Given the description of an element on the screen output the (x, y) to click on. 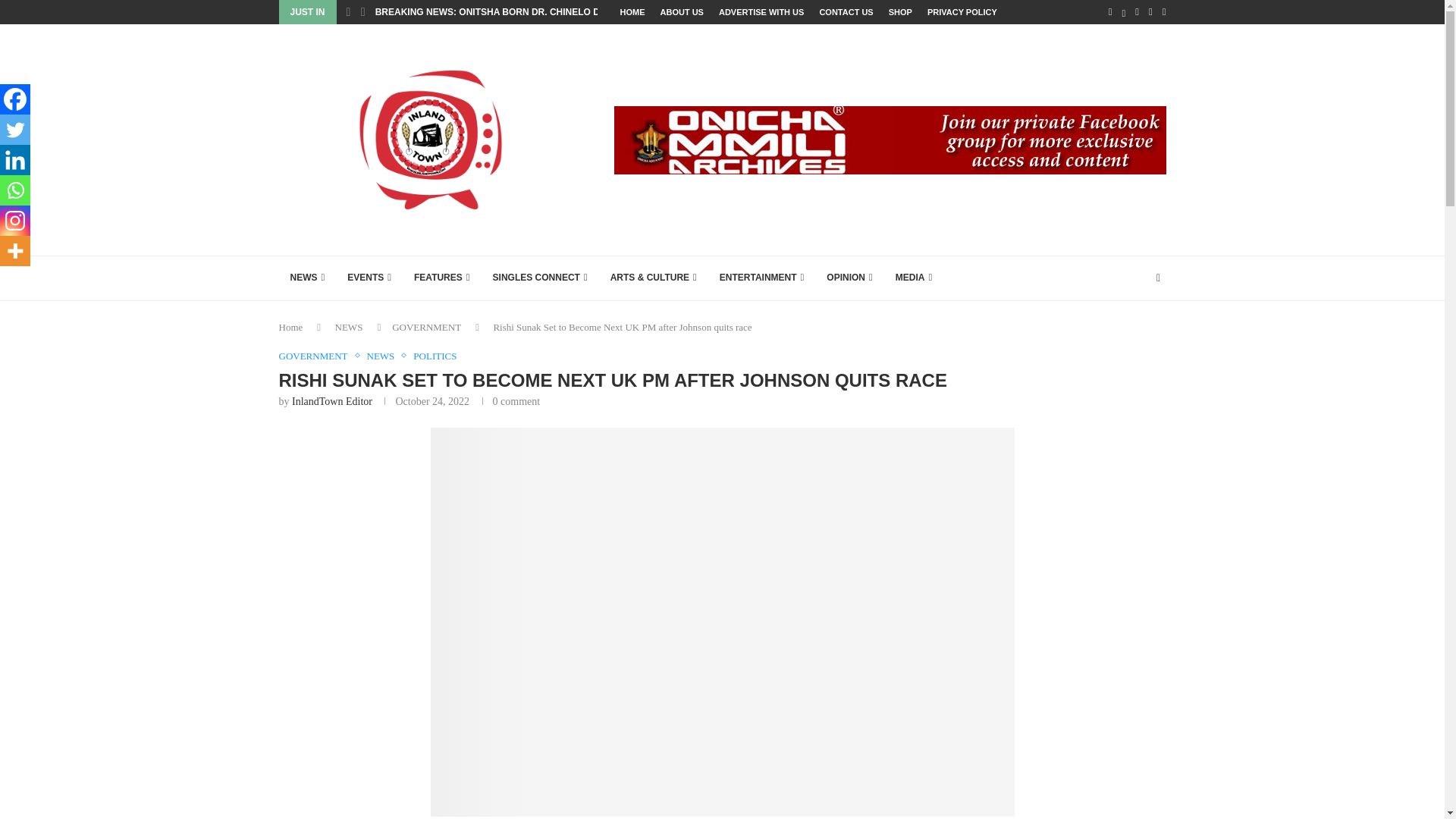
EVENTS (369, 278)
PRIVACY POLICY (962, 12)
HOME (632, 12)
NEWS (307, 278)
Linkedin (15, 159)
ABOUT US (681, 12)
SHOP (900, 12)
More (15, 250)
ADVERTISE WITH US (761, 12)
Instagram (15, 220)
